Given the description of an element on the screen output the (x, y) to click on. 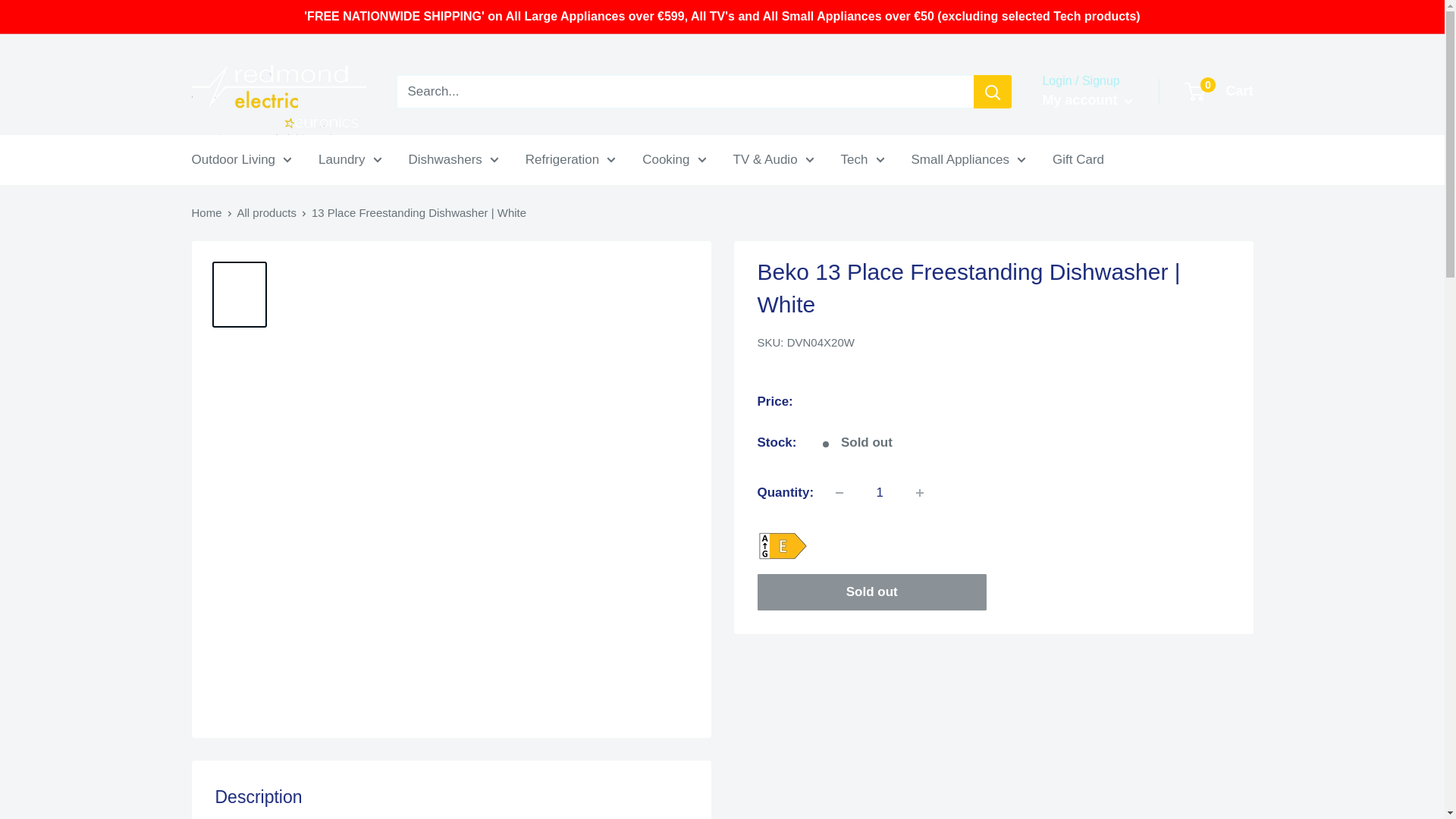
1 (880, 492)
Decrease quantity by 1 (840, 492)
Increase quantity by 1 (920, 492)
